Given the description of an element on the screen output the (x, y) to click on. 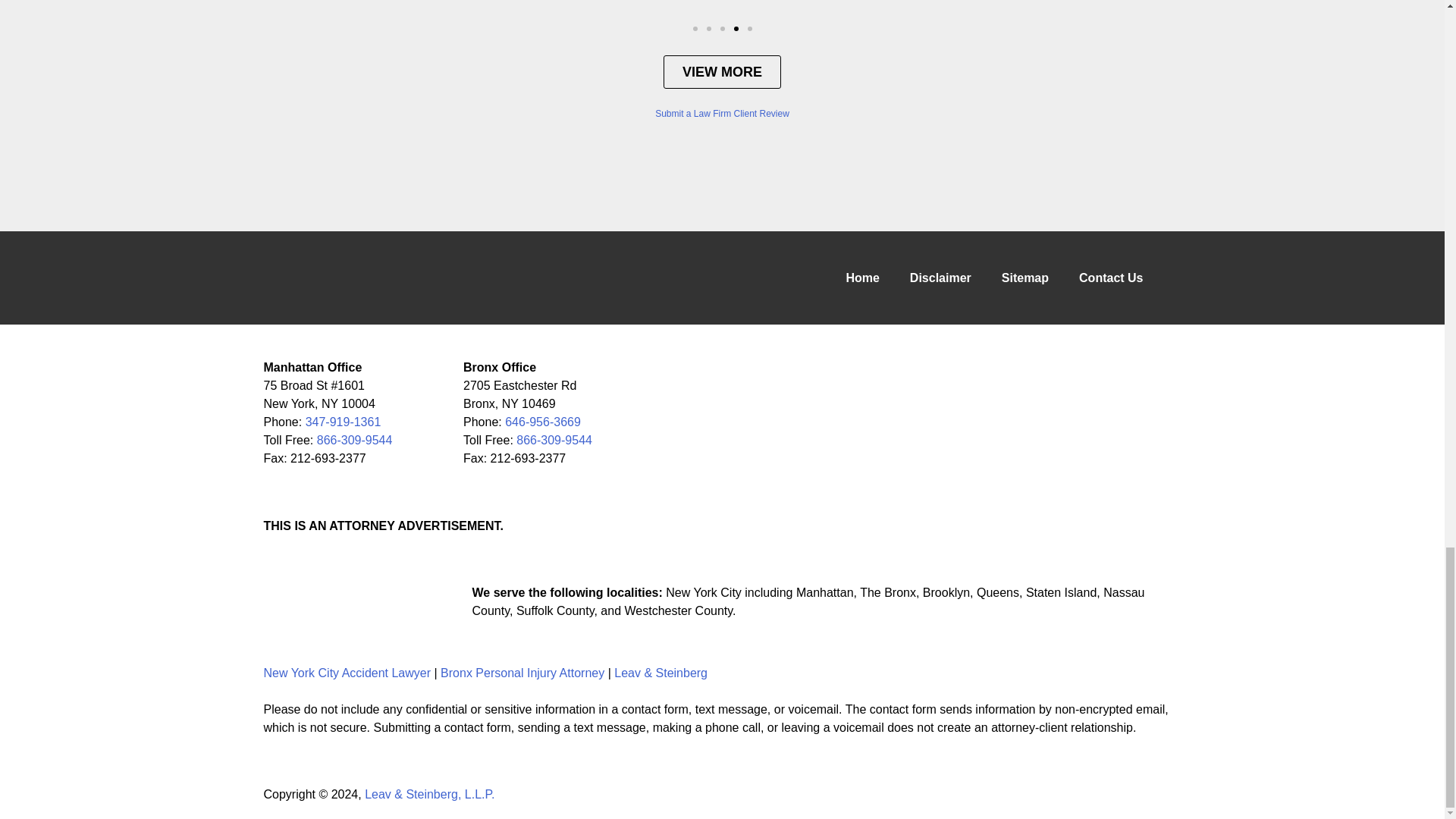
facebook-icon.png (279, 601)
twitter-icon.png (314, 601)
justia-icon.png (385, 601)
linkedin-icon.png (350, 601)
instagram-icon.png (422, 601)
